Given the description of an element on the screen output the (x, y) to click on. 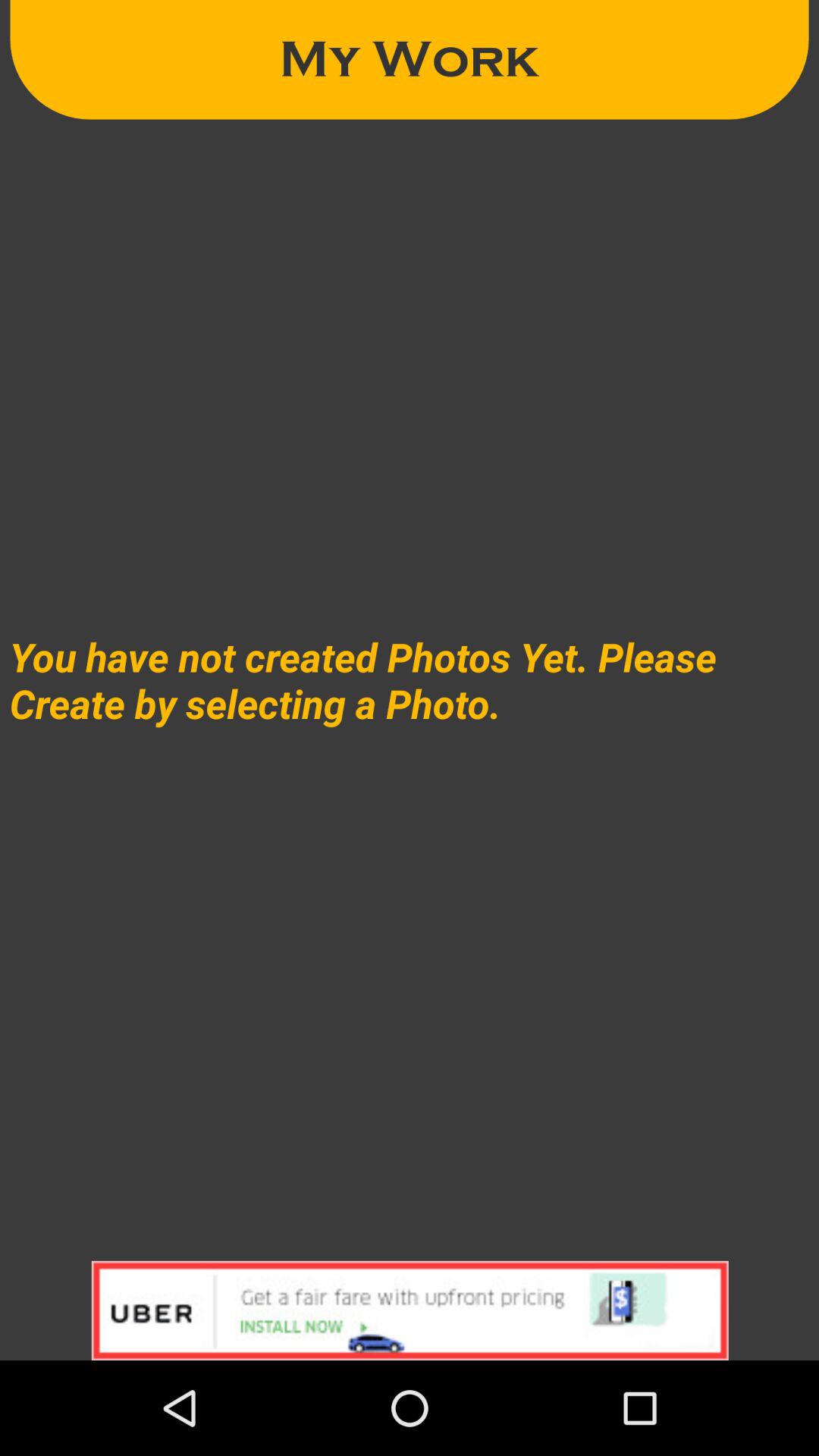
currently displayed advertisement (409, 1310)
